Given the description of an element on the screen output the (x, y) to click on. 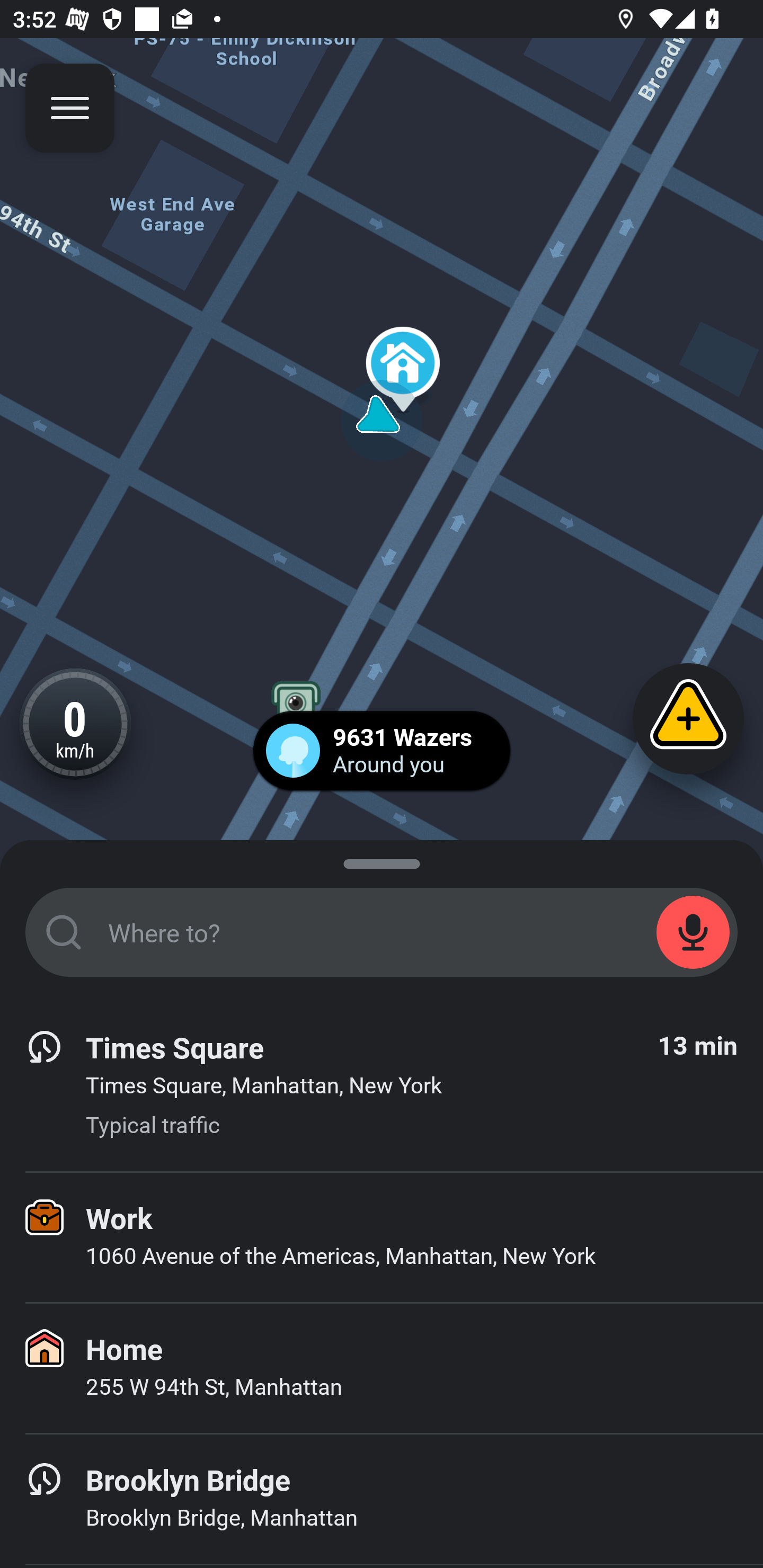
SUGGESTIONS_SHEET_DRAG_HANDLE (381, 860)
START_STATE_SEARCH_FIELD Where to? (381, 931)
Home 255 W 94th St, Manhattan (381, 1368)
Brooklyn Bridge Brooklyn Bridge, Manhattan (381, 1498)
